Given the description of an element on the screen output the (x, y) to click on. 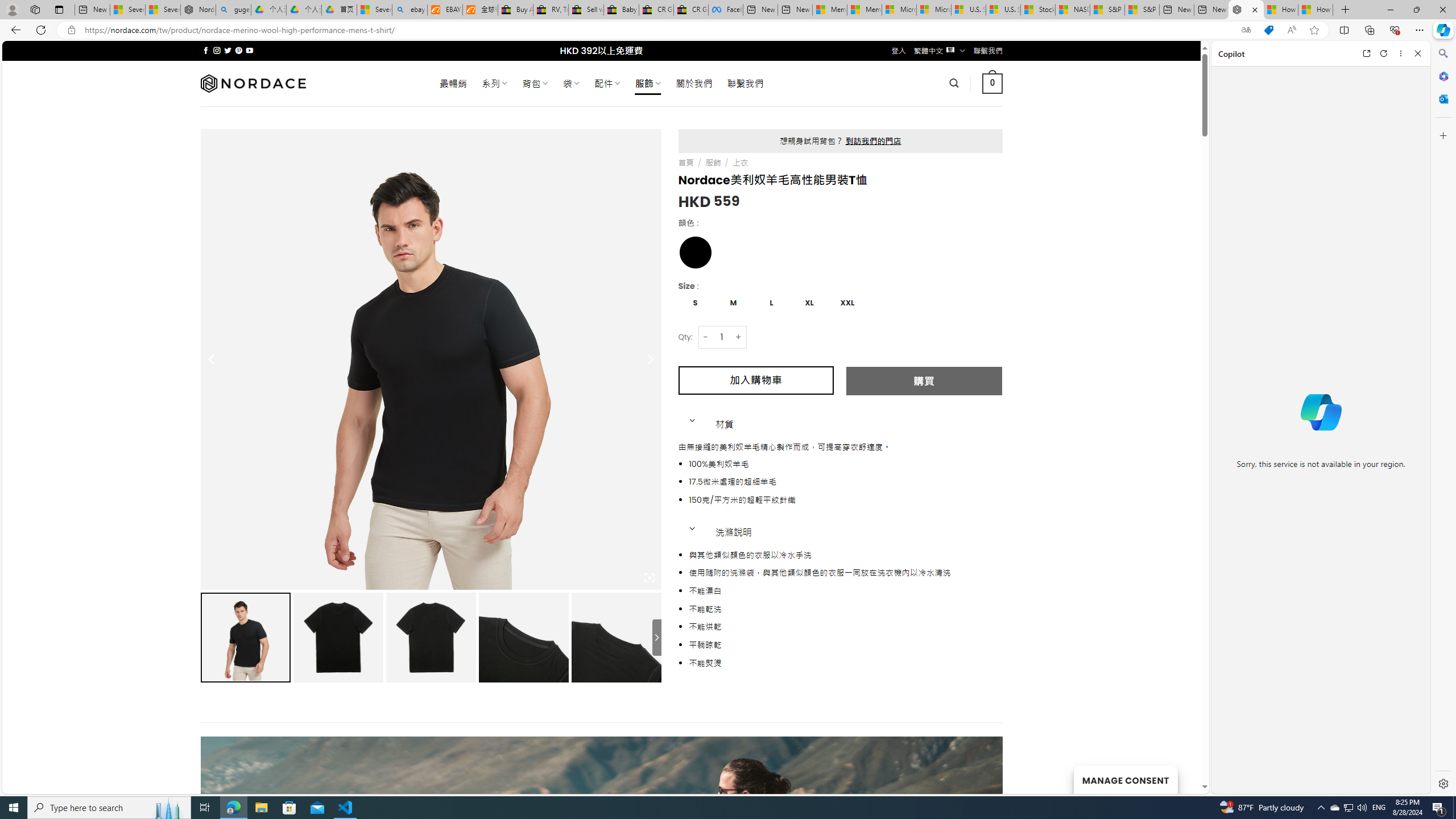
Follow on Twitter (227, 50)
Class: iconic-woothumbs-fullscreen (649, 577)
Buy Auto Parts & Accessories | eBay (515, 9)
 0  (992, 83)
